Given the description of an element on the screen output the (x, y) to click on. 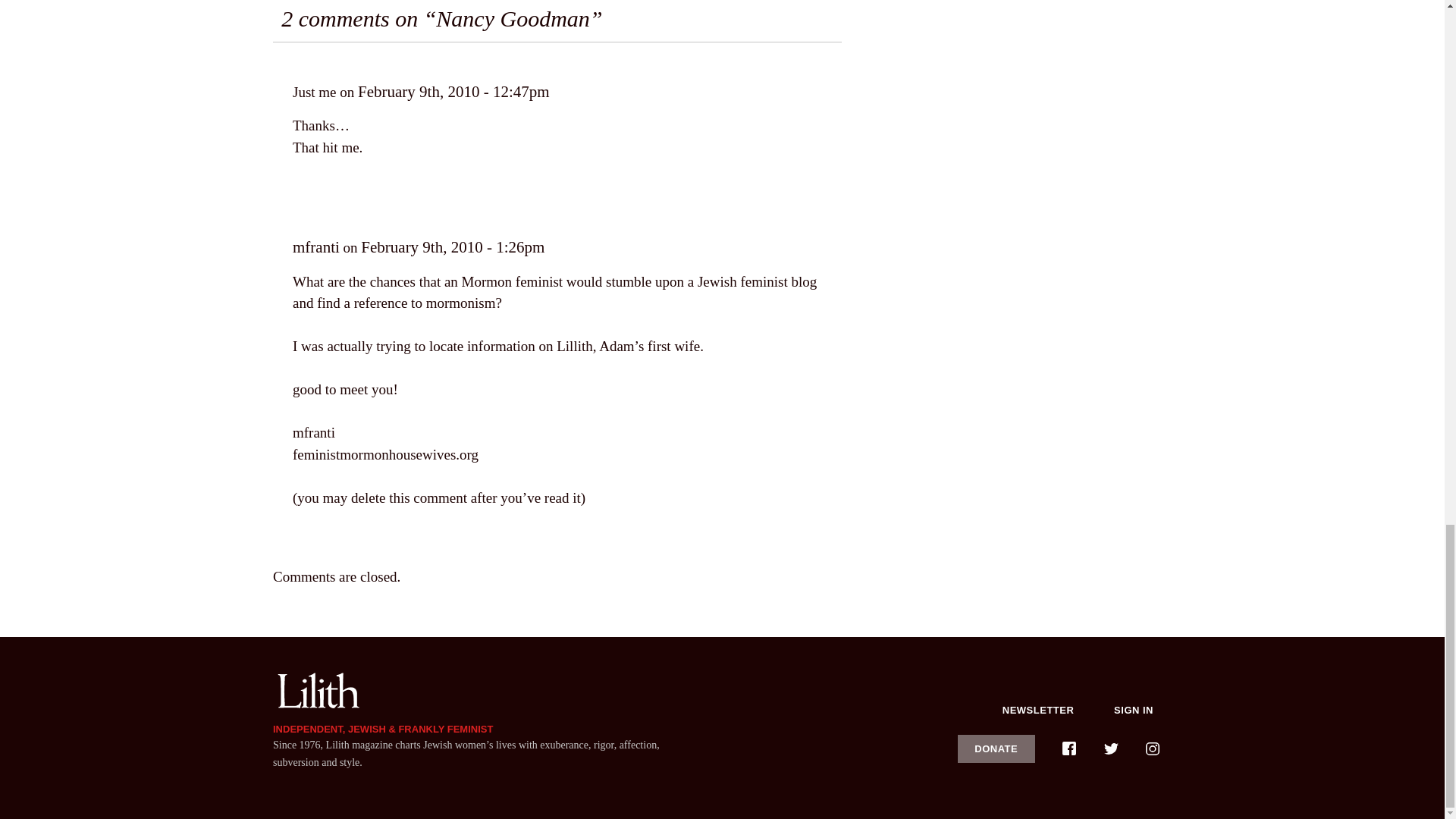
NEWSLETTER (1038, 710)
February 9th, 2010 - 12:47pm (454, 91)
DONATE (996, 748)
February 9th, 2010 - 1:26pm (452, 247)
mfranti (315, 247)
SIGN IN (1134, 710)
